Given the description of an element on the screen output the (x, y) to click on. 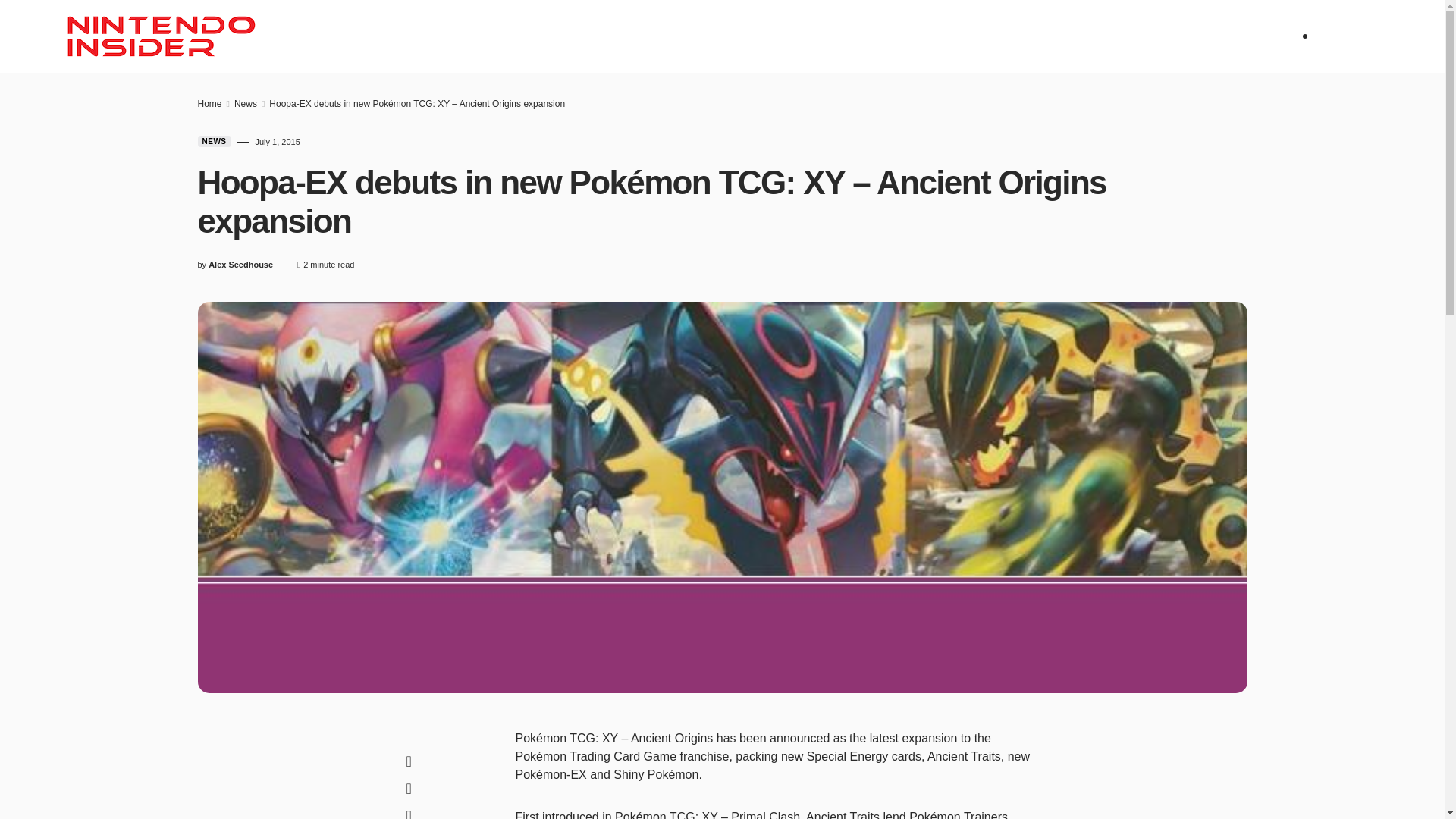
NEWS (409, 36)
Features (625, 36)
FEATURES (625, 36)
REVIEWS (472, 36)
GUIDES (695, 36)
PREVIEWS (546, 36)
Previews (546, 36)
News (409, 36)
HOME (355, 36)
INTERVIEWS (770, 36)
